Given the description of an element on the screen output the (x, y) to click on. 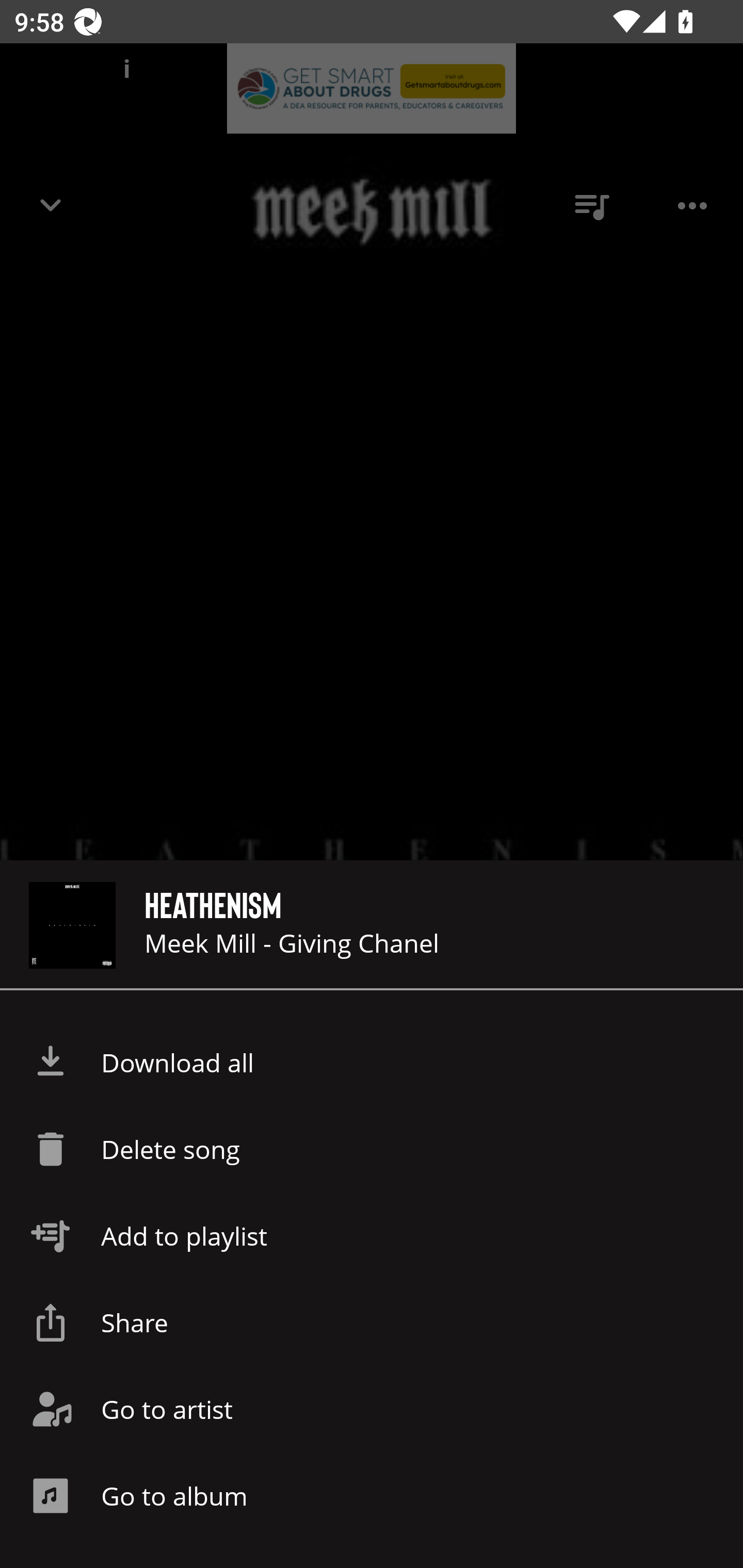
Download all (371, 1062)
Delete song (371, 1149)
Add to playlist (371, 1236)
Share (371, 1322)
Go to artist (371, 1408)
Go to album (371, 1495)
